Given the description of an element on the screen output the (x, y) to click on. 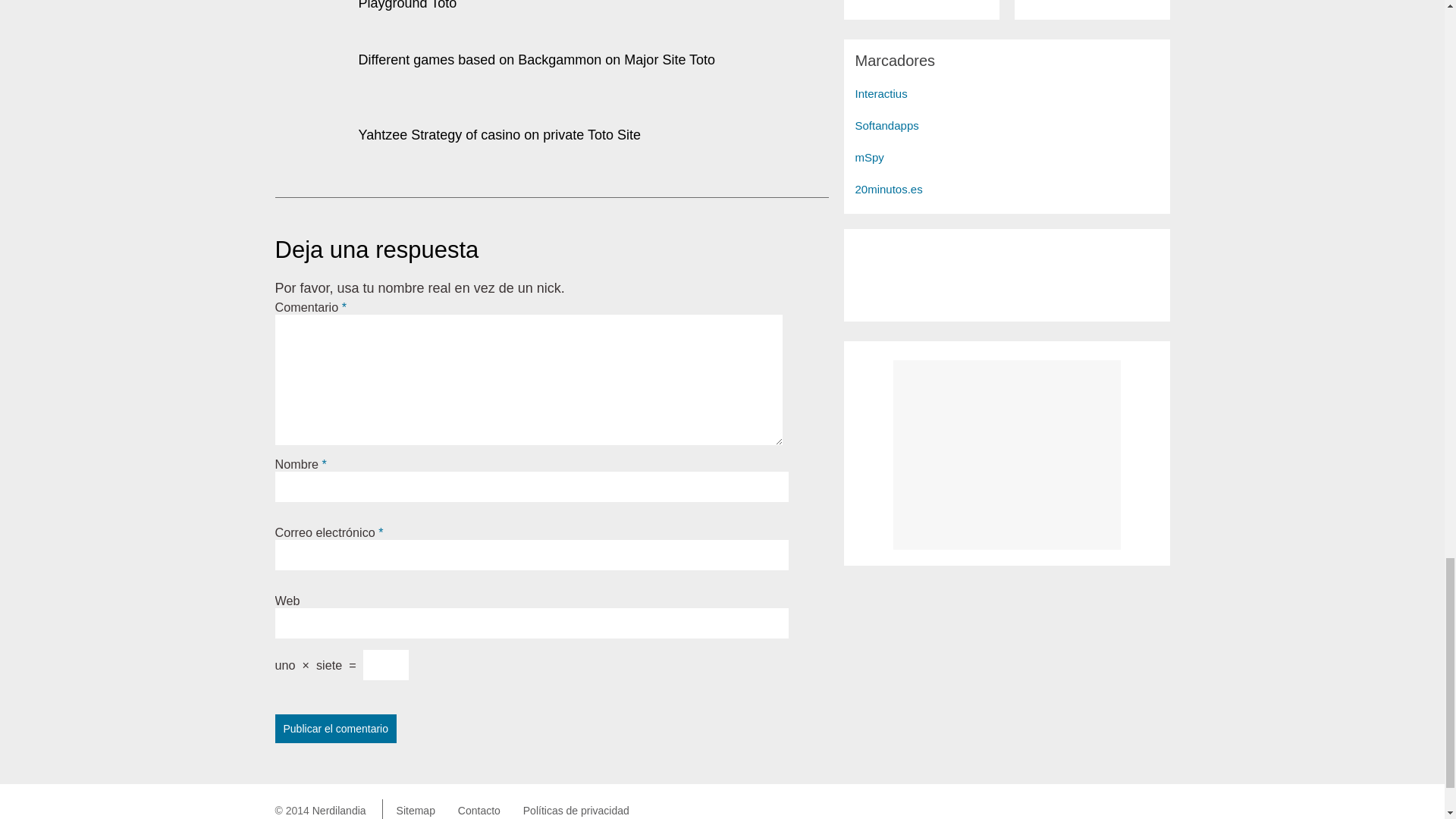
Publicar el comentario (335, 728)
